Given the description of an element on the screen output the (x, y) to click on. 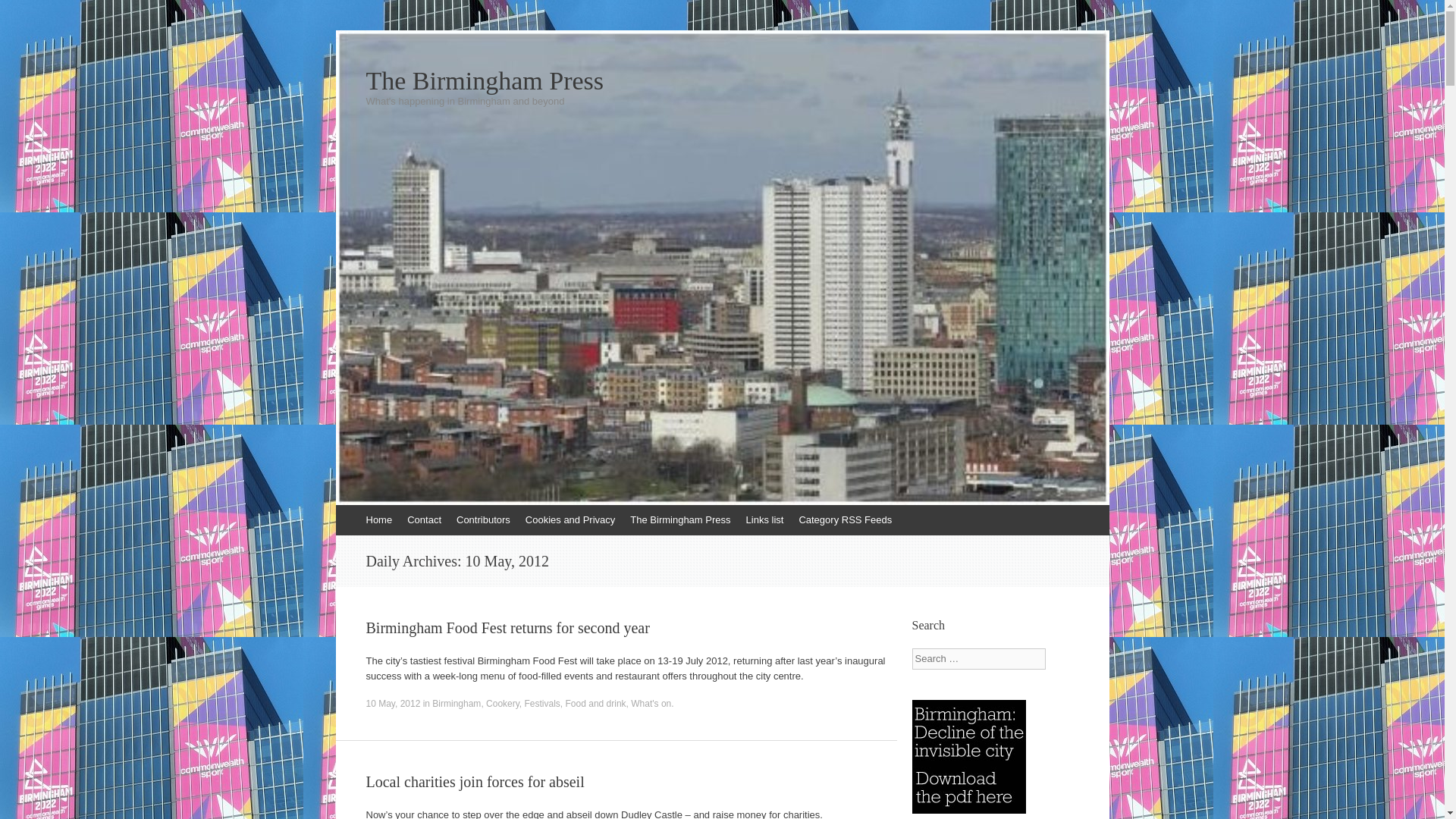
Contact (423, 520)
Cookies and Privacy (570, 520)
Links list (765, 520)
Contributors (483, 520)
Category RSS Feeds (844, 520)
Search (23, 15)
What's on (650, 703)
10 May, 2012 (392, 703)
Cookies and Privacy (570, 520)
Birmingham (456, 703)
Home (378, 520)
The Birmingham Press (680, 520)
Category RSS Feeds (844, 520)
Festivals (542, 703)
The Birmingham Press (721, 80)
